Given the description of an element on the screen output the (x, y) to click on. 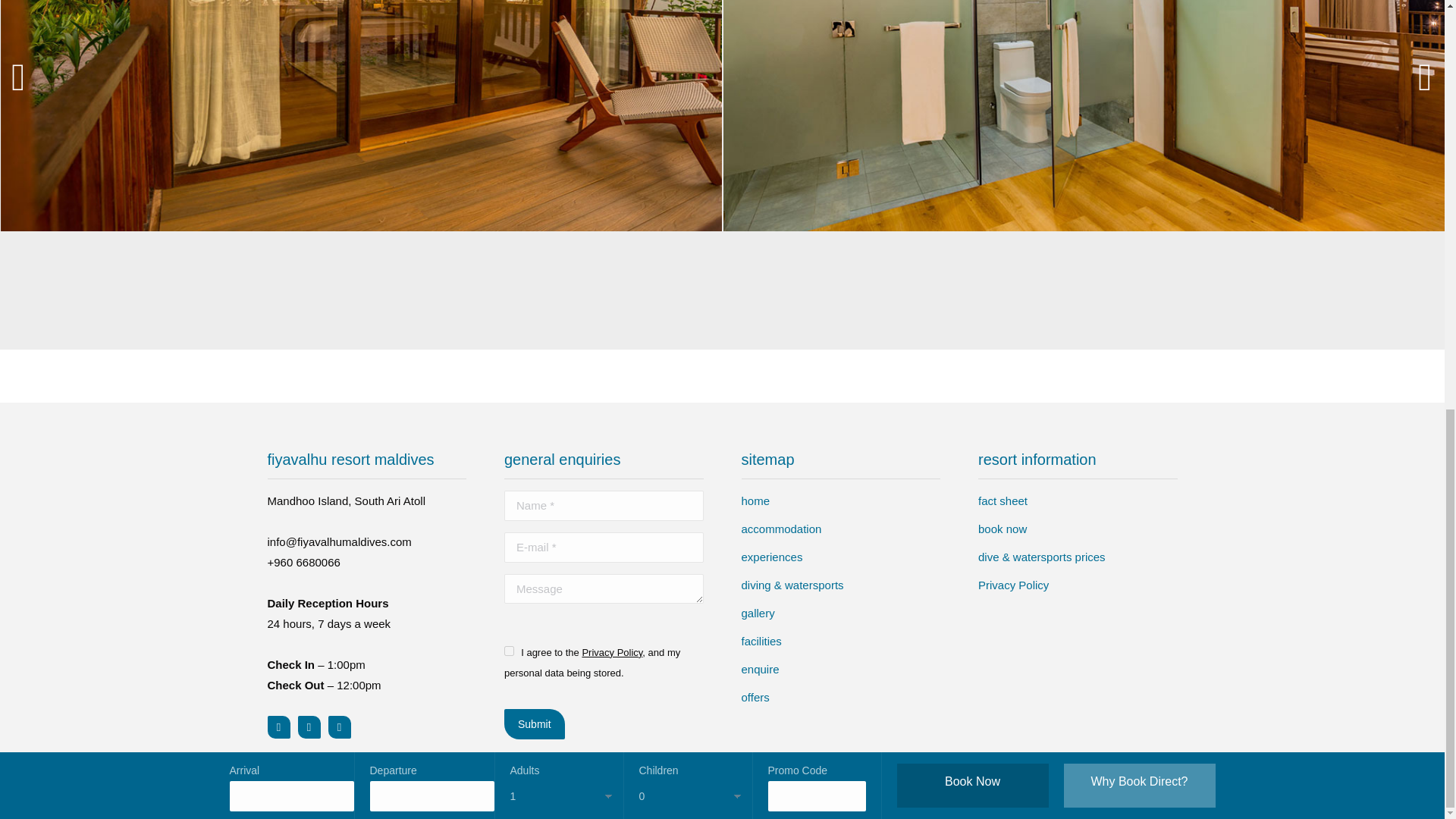
on (508, 651)
submit (602, 725)
